Given the description of an element on the screen output the (x, y) to click on. 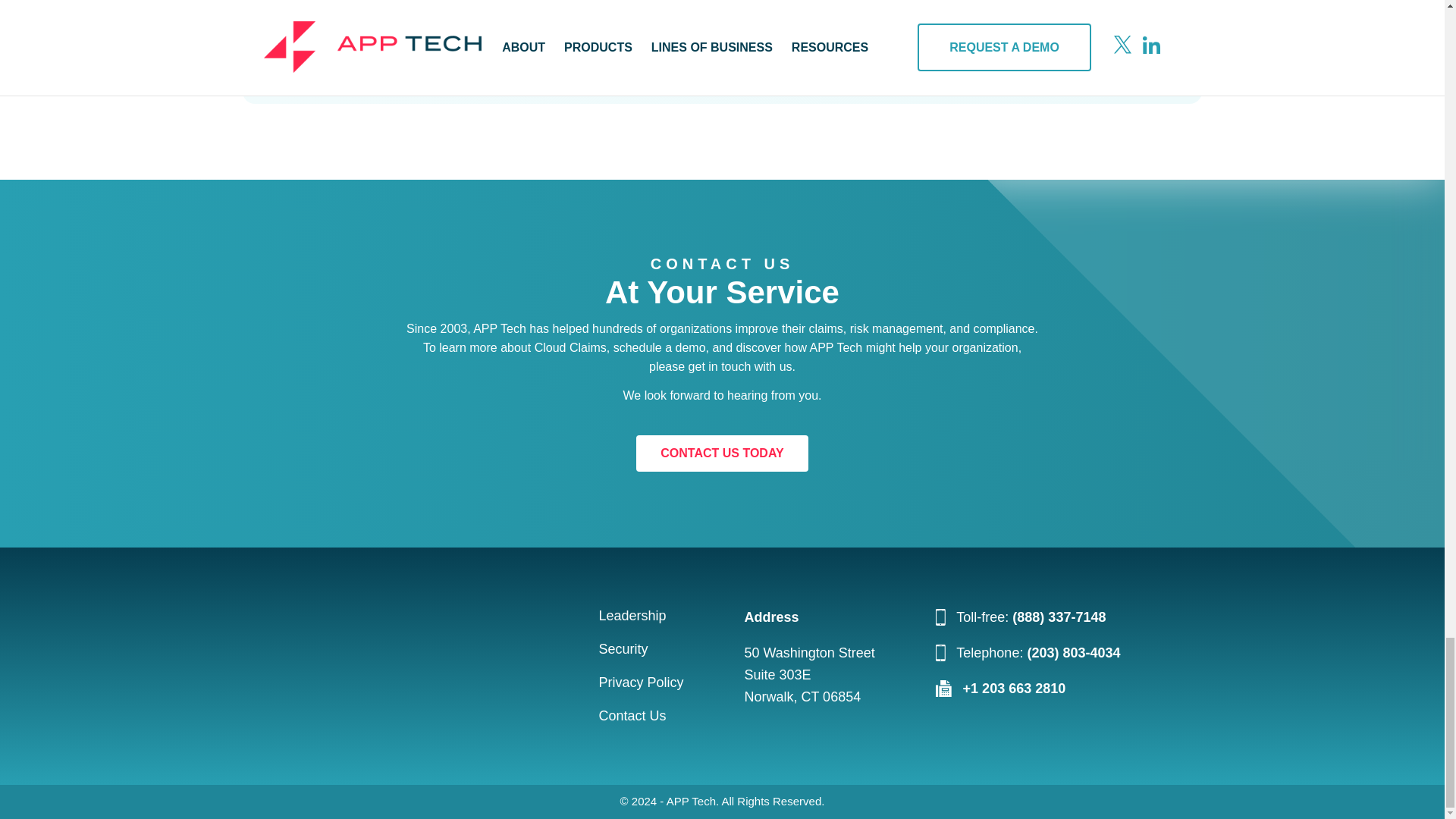
Contact Us (631, 715)
Leadership (631, 615)
Security (622, 648)
CONTACT US TODAY (722, 453)
Privacy Policy (640, 682)
READ MORE REVIEWS (1053, 27)
